Given the description of an element on the screen output the (x, y) to click on. 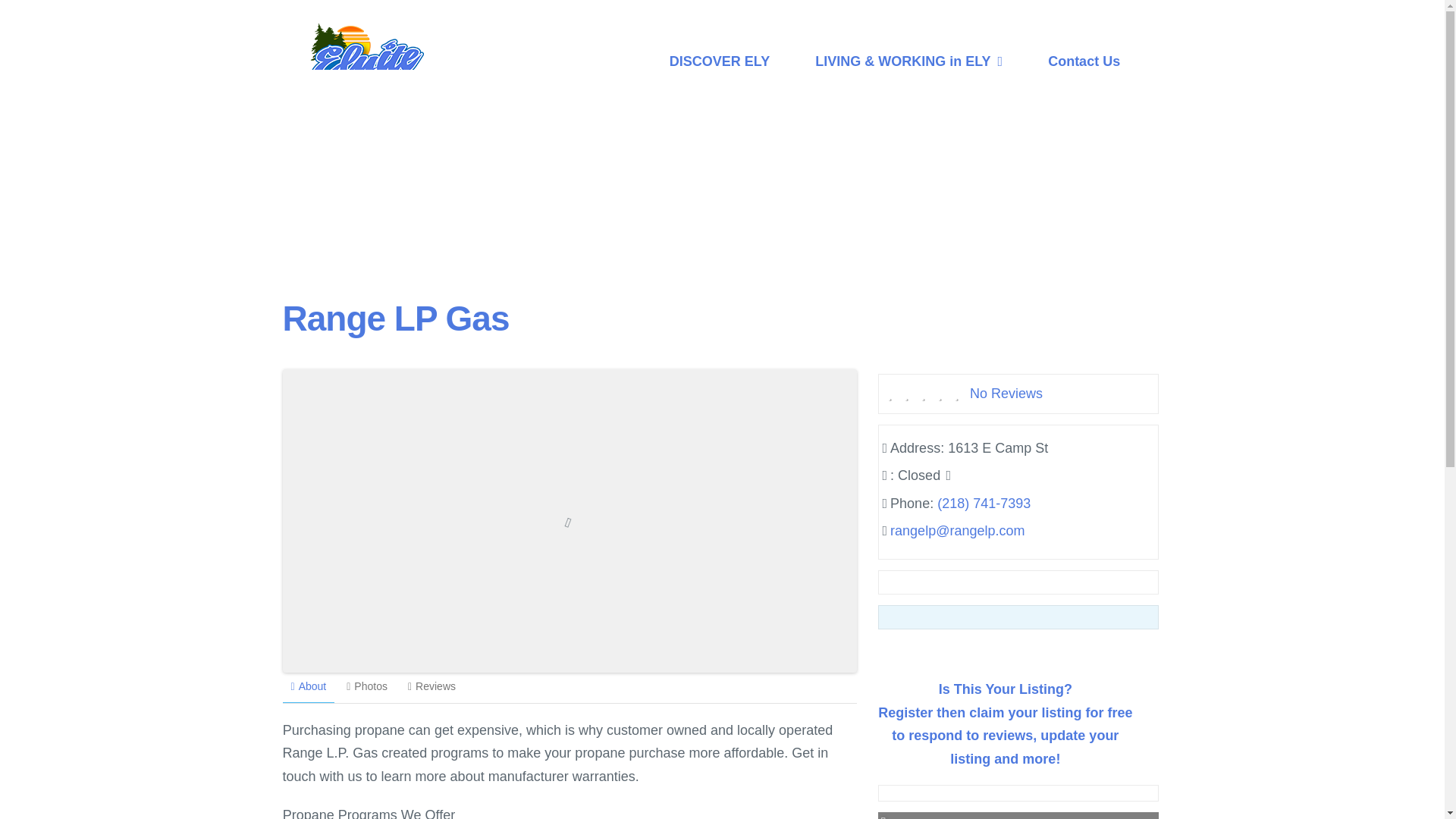
View: Range LP Gas (395, 318)
Expand opening hours (925, 475)
Photos (366, 686)
No Reviews (1005, 393)
No rating yet! (924, 395)
About (308, 686)
Reviews (431, 686)
Range LP Gas (395, 318)
